Given the description of an element on the screen output the (x, y) to click on. 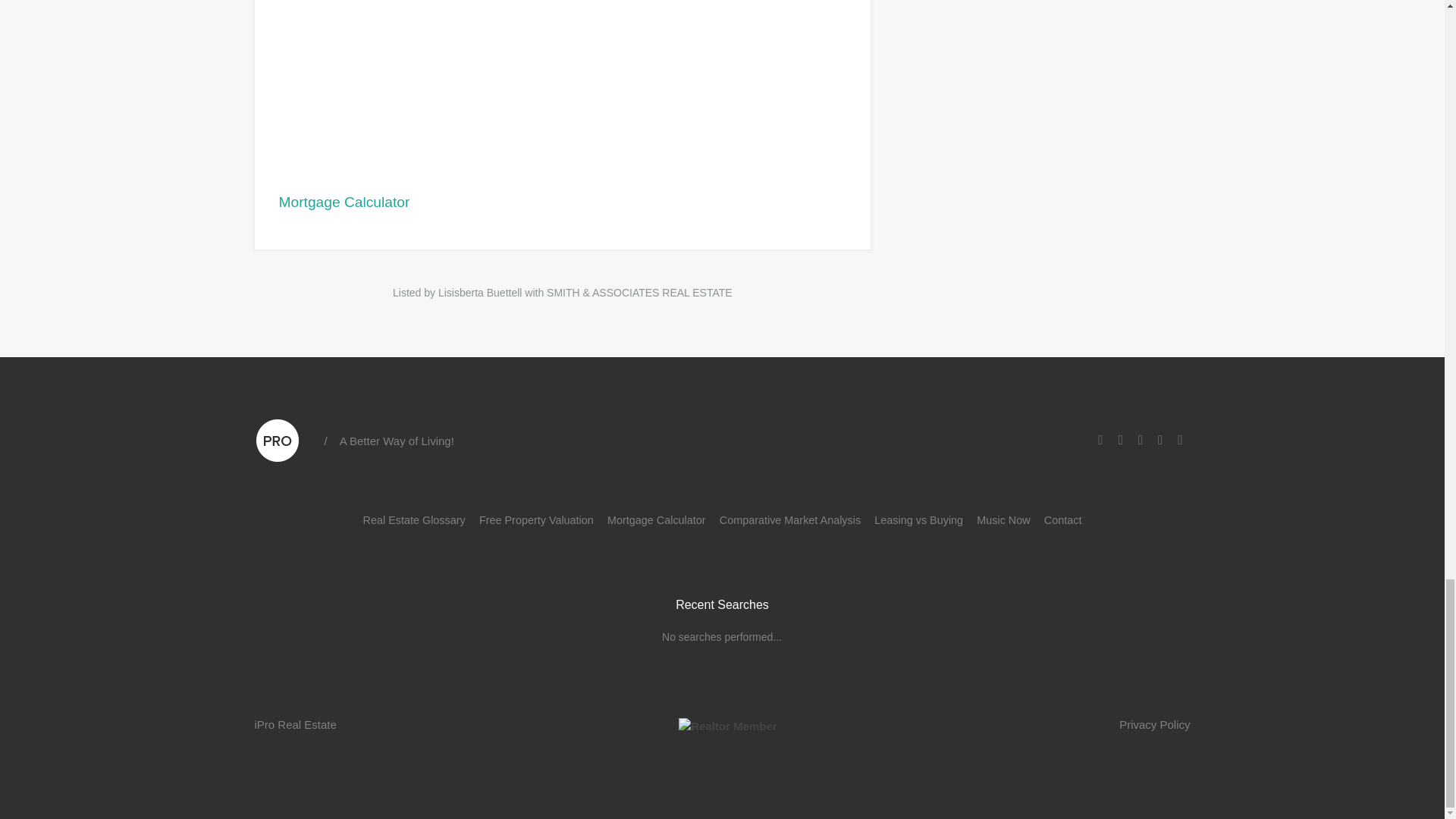
Instagram (1140, 439)
RSS Feed (1179, 439)
Linked-In (1120, 439)
YouTube (1160, 439)
Facebook (1099, 439)
